Given the description of an element on the screen output the (x, y) to click on. 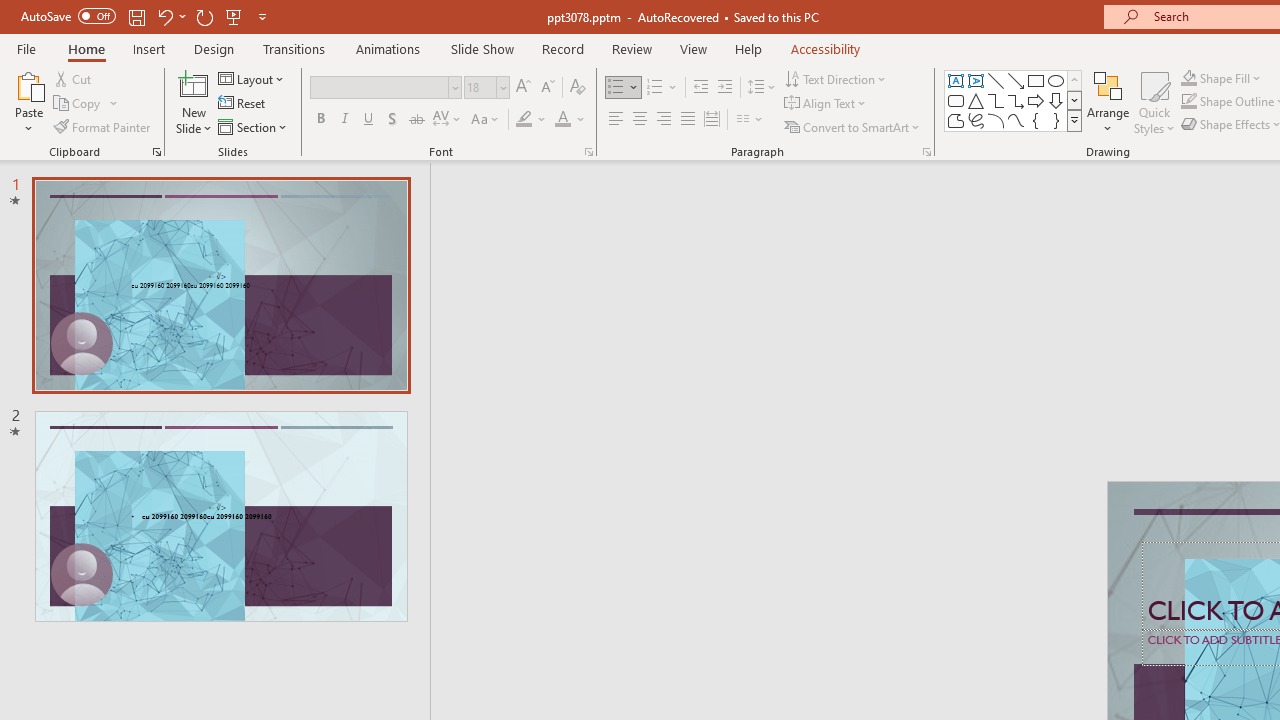
Arrange (1108, 102)
Connector: Elbow (995, 100)
Increase Font Size (522, 87)
Row Down (1074, 100)
Cut (73, 78)
Bullets (616, 87)
Columns (750, 119)
Underline (369, 119)
